Given the description of an element on the screen output the (x, y) to click on. 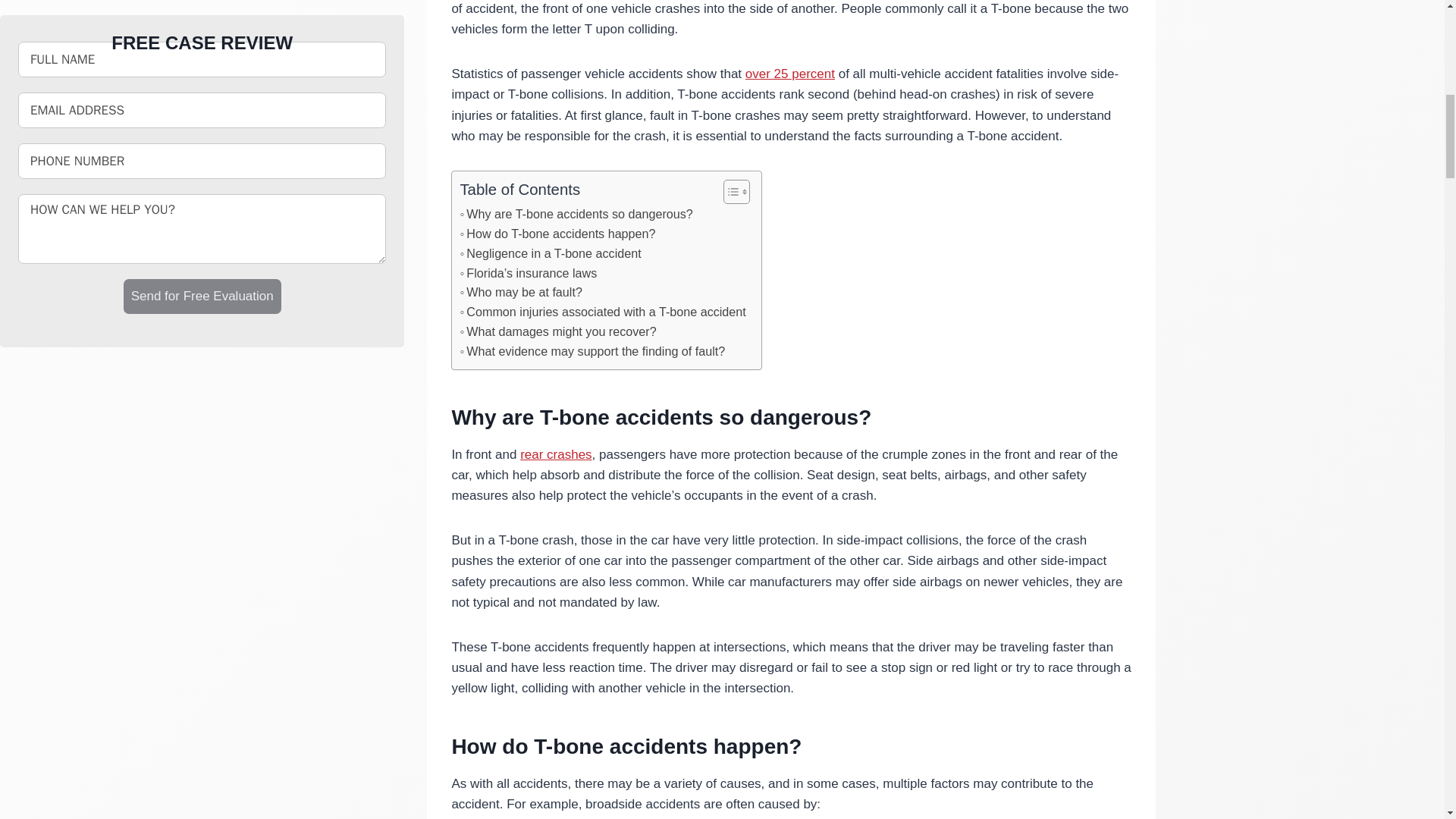
What damages might you recover? (558, 332)
Negligence in a T-bone accident (550, 253)
Who may be at fault? (520, 292)
What evidence may support the finding of fault? (592, 351)
How do T-bone accidents happen? (557, 234)
Why are T-bone accidents so dangerous? (576, 214)
Common injuries associated with a T-bone accident (602, 312)
